Given the description of an element on the screen output the (x, y) to click on. 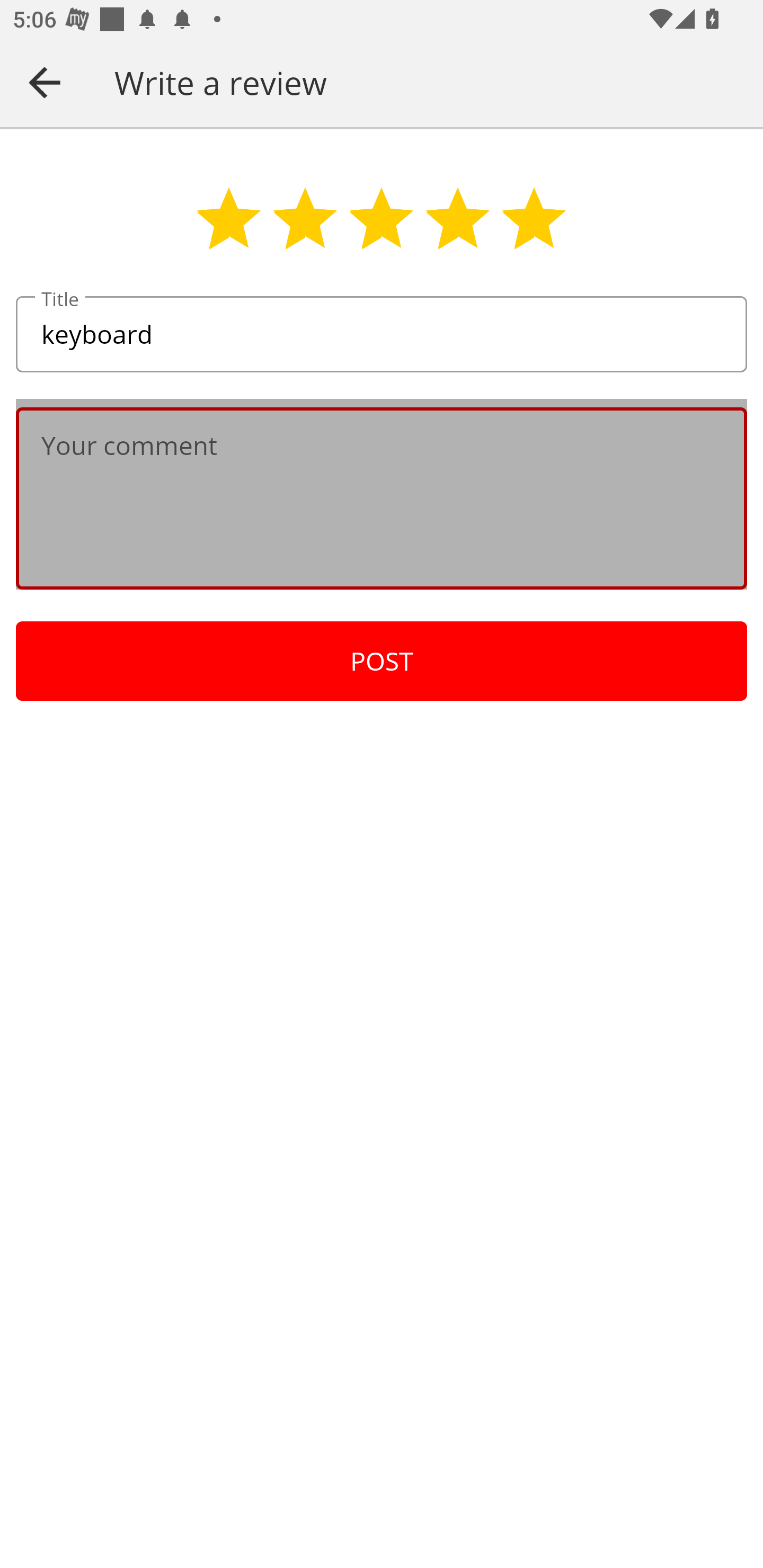
Navigate up (44, 82)
keyboard (381, 334)
Your comment (381, 498)
POST (381, 660)
